Given the description of an element on the screen output the (x, y) to click on. 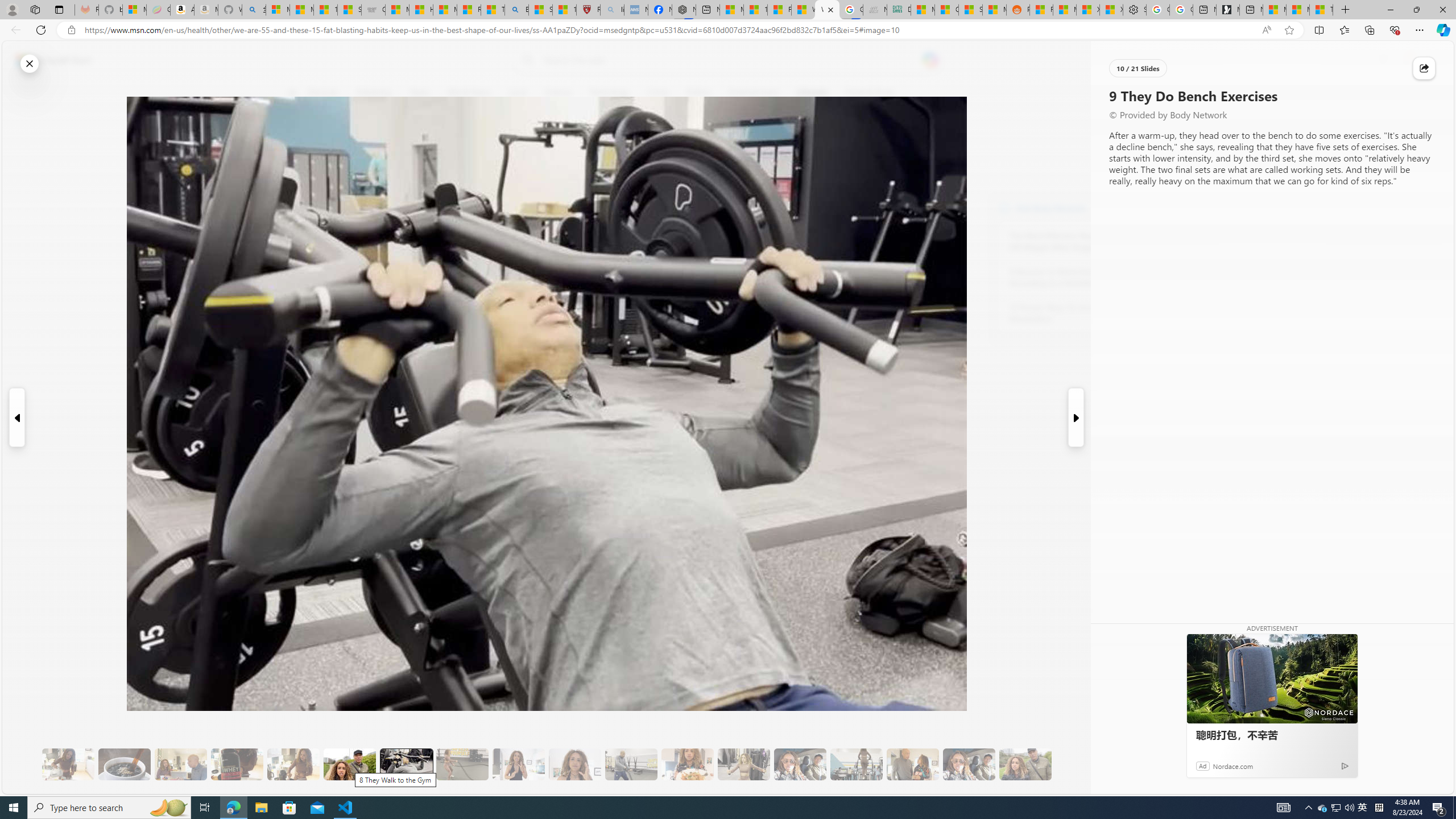
Microsoft Start Gaming (1227, 9)
How I Got Rid of Microsoft Edge's Unnecessary Features (421, 9)
Body Network (449, 147)
Entertainment (753, 92)
6 Like (299, 138)
Bing (515, 9)
11 They Eat More Protein for Breakfast (518, 764)
World News (468, 92)
9 They Do Bench Exercises (406, 764)
6 Since Eating More Protein Her Training Has Improved (237, 764)
Technology (609, 92)
